Given the description of an element on the screen output the (x, y) to click on. 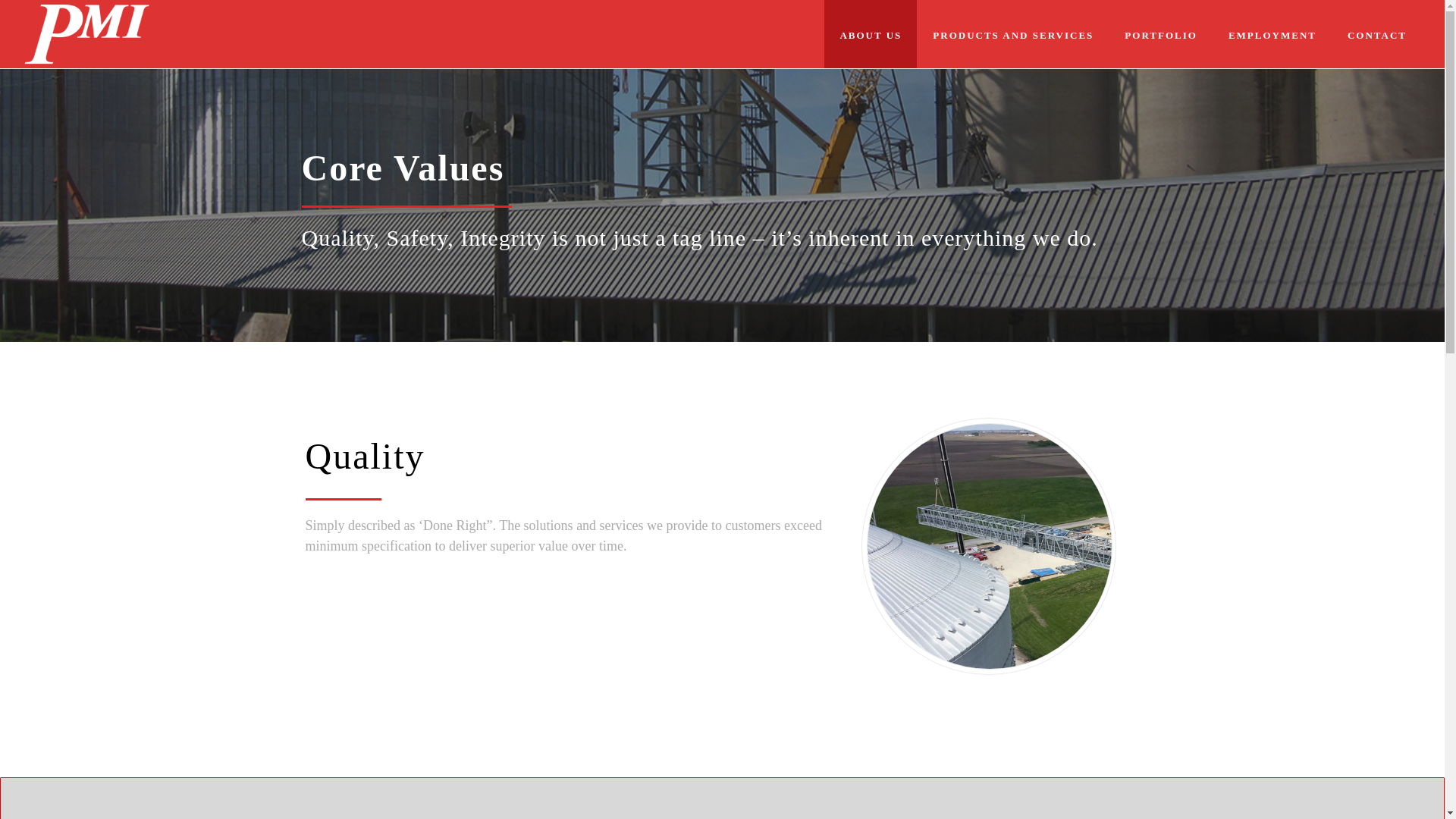
ABOUT US (870, 33)
CONTACT (1377, 33)
EMPLOYMENT (1272, 33)
ABOUT US (870, 33)
PORTFOLIO (1160, 33)
PRODUCTS AND SERVICES (1012, 33)
PRODUCTS AND SERVICES (1012, 33)
PORTFOLIO (1160, 33)
CONTACT (1377, 33)
EMPLOYMENT (1272, 33)
